Given the description of an element on the screen output the (x, y) to click on. 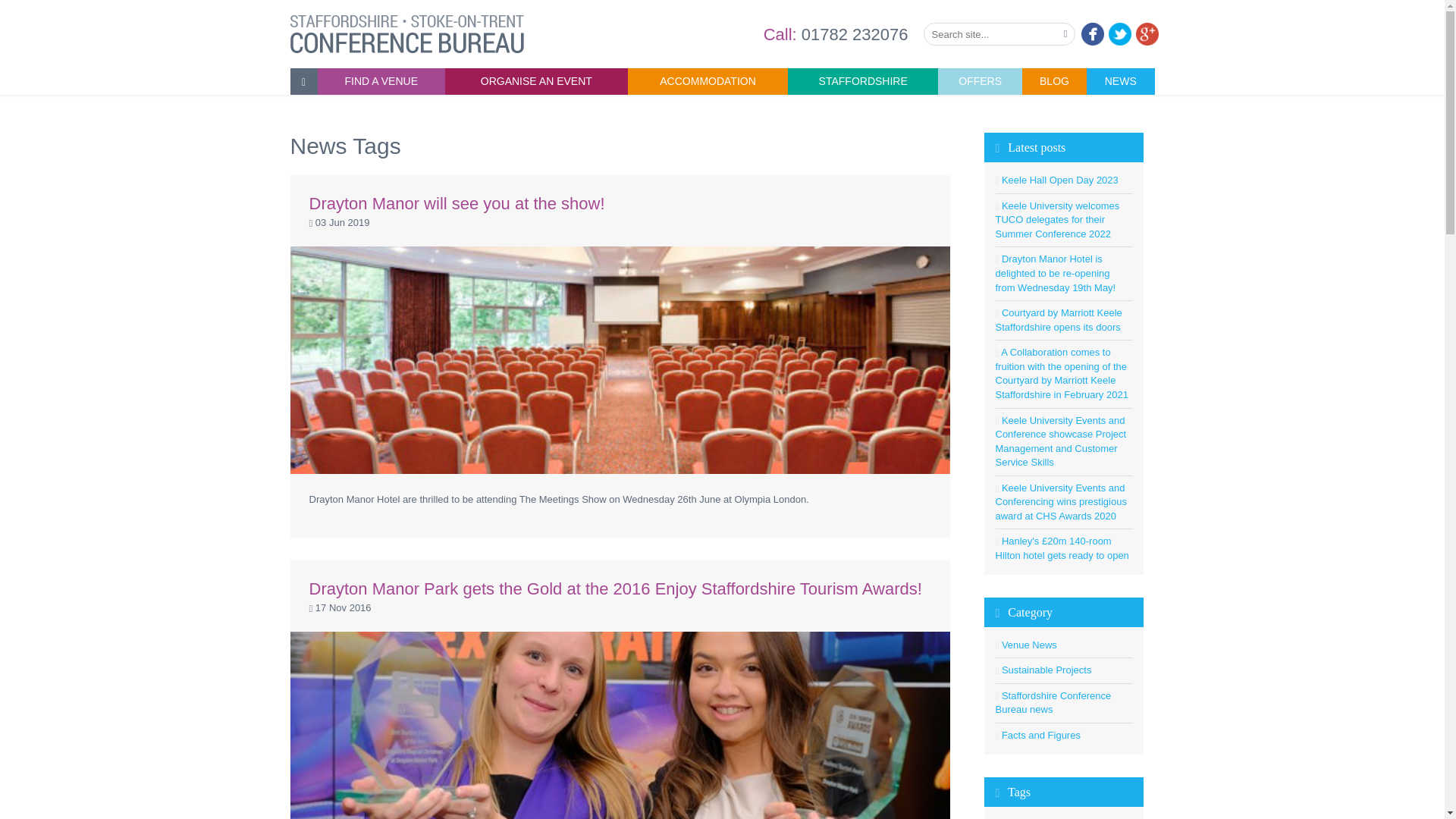
STAFFORDSHIRE (862, 81)
Keele Hall Open Day 2023 (1059, 179)
FIND A VENUE (381, 81)
Drayton Manor will see you at the show! (456, 203)
BLOG (1054, 81)
ACCOMMODATION (707, 81)
ORGANISE AN EVENT (536, 81)
Staffordshire Stoke-on-Trent Conference Bureau (405, 32)
OFFERS (979, 81)
NEWS (1120, 81)
